Given the description of an element on the screen output the (x, y) to click on. 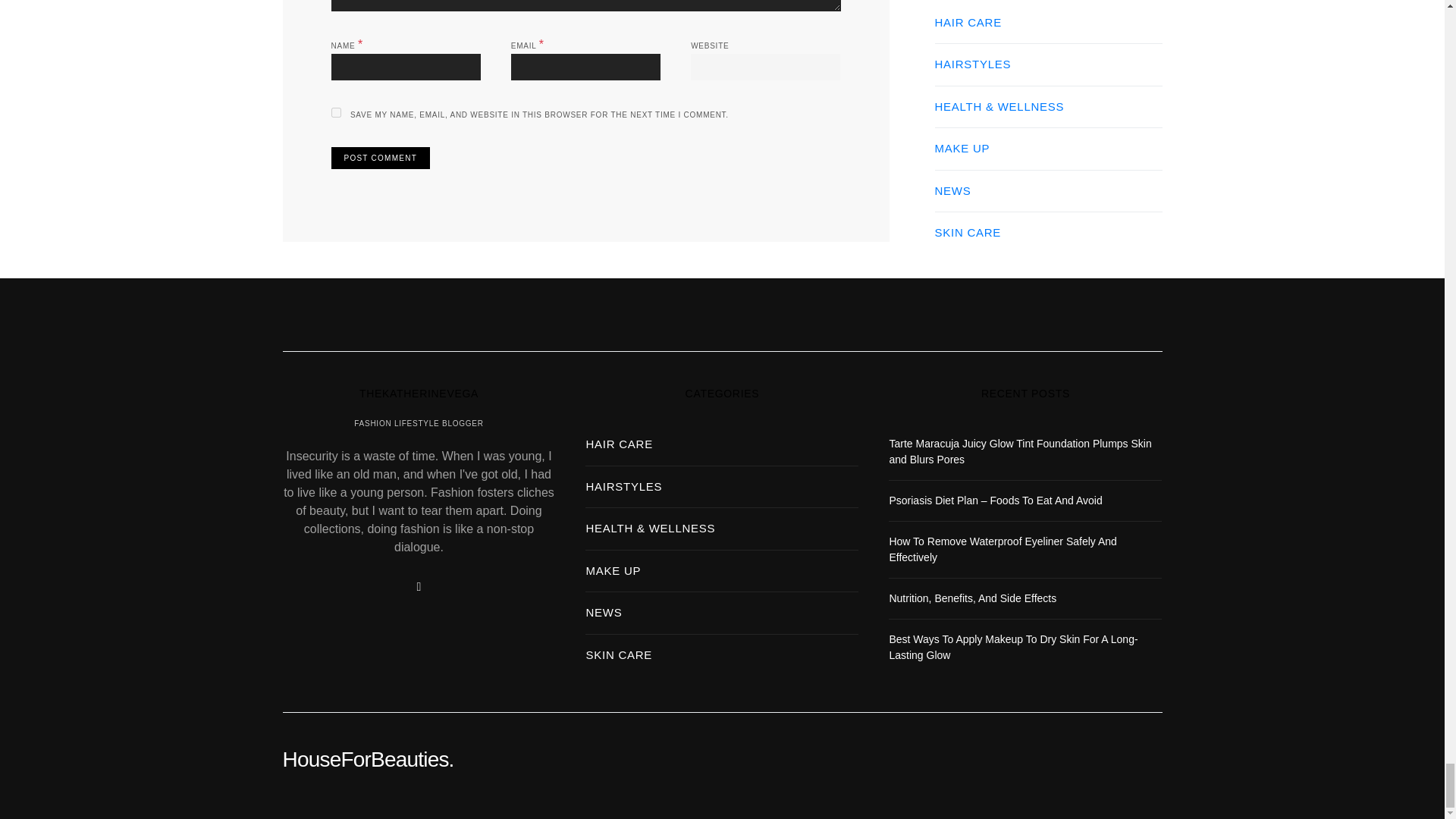
Post Comment (379, 157)
yes (335, 112)
